Given the description of an element on the screen output the (x, y) to click on. 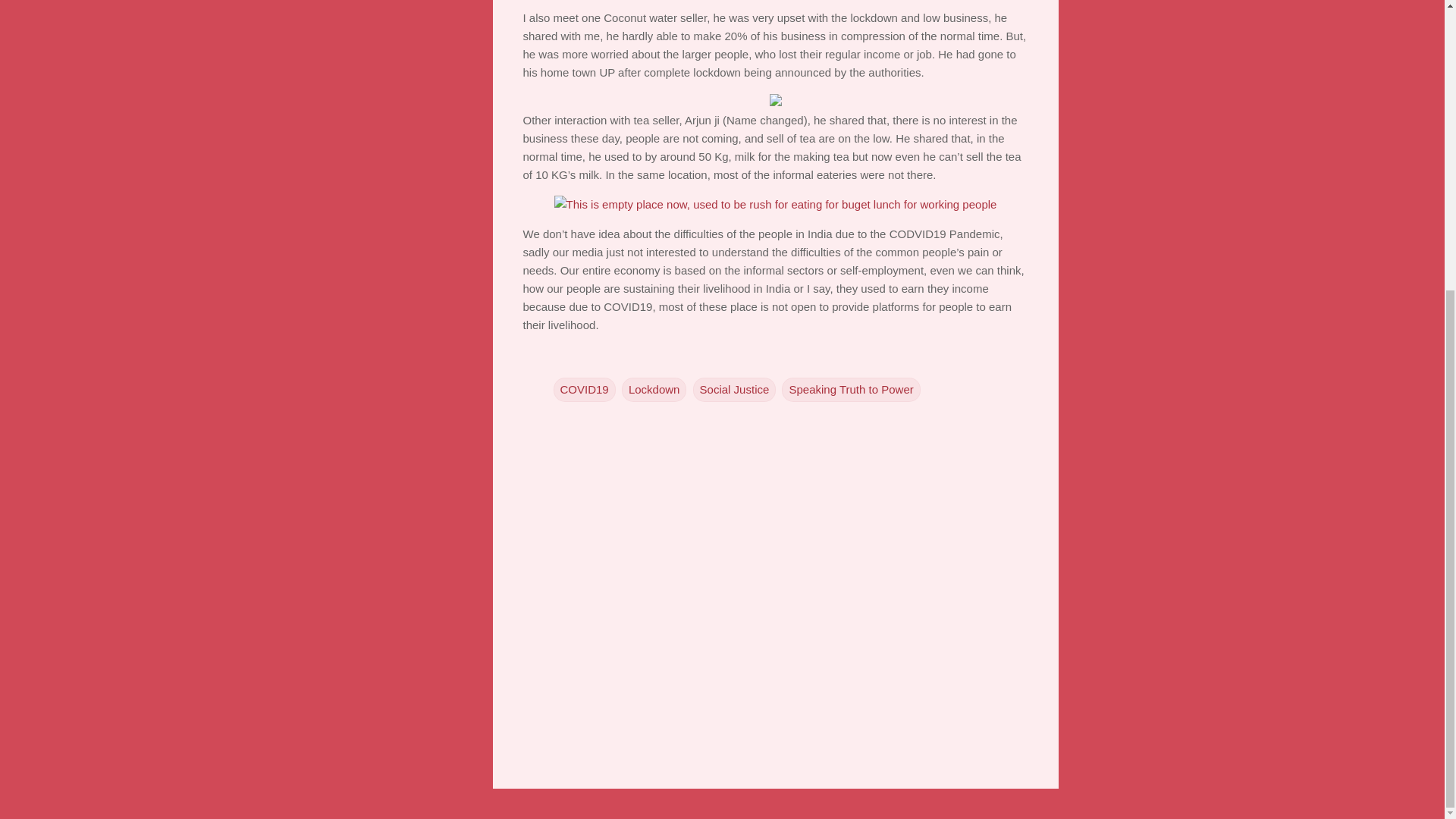
Lockdown (654, 388)
Speaking Truth to Power (850, 388)
Social Justice (734, 388)
COVID19 (584, 388)
